Given the description of an element on the screen output the (x, y) to click on. 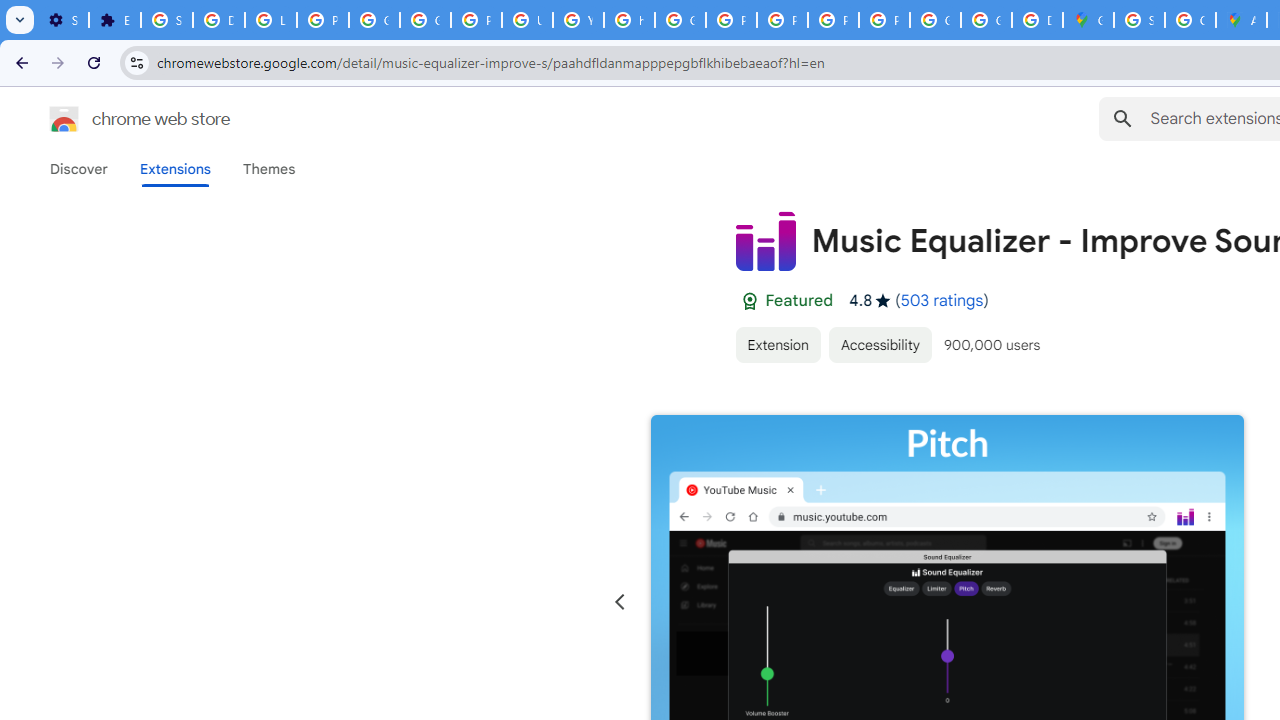
Sign in - Google Accounts (1138, 20)
503 ratings (941, 300)
Chrome Web Store logo (63, 118)
Extensions (174, 169)
Create your Google Account (1189, 20)
Privacy Help Center - Policies Help (731, 20)
